Given the description of an element on the screen output the (x, y) to click on. 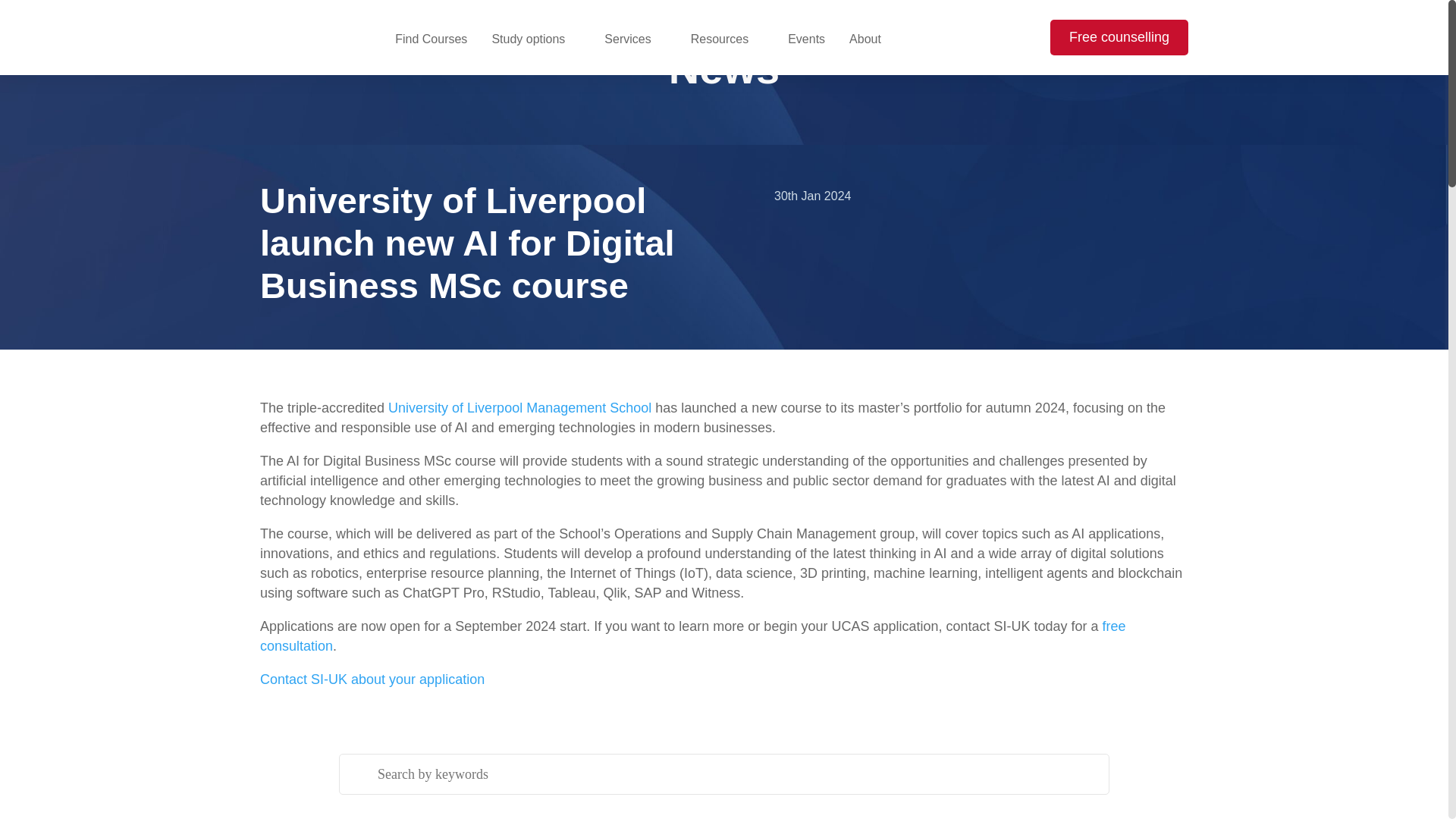
Find Courses (430, 44)
Events (806, 44)
whatsappicon (1410, 723)
Free counselling (1118, 37)
About (872, 38)
Resources (726, 38)
search dark (1016, 37)
SI-UK - Logo (289, 36)
Services (634, 38)
Study options (535, 38)
